Given the description of an element on the screen output the (x, y) to click on. 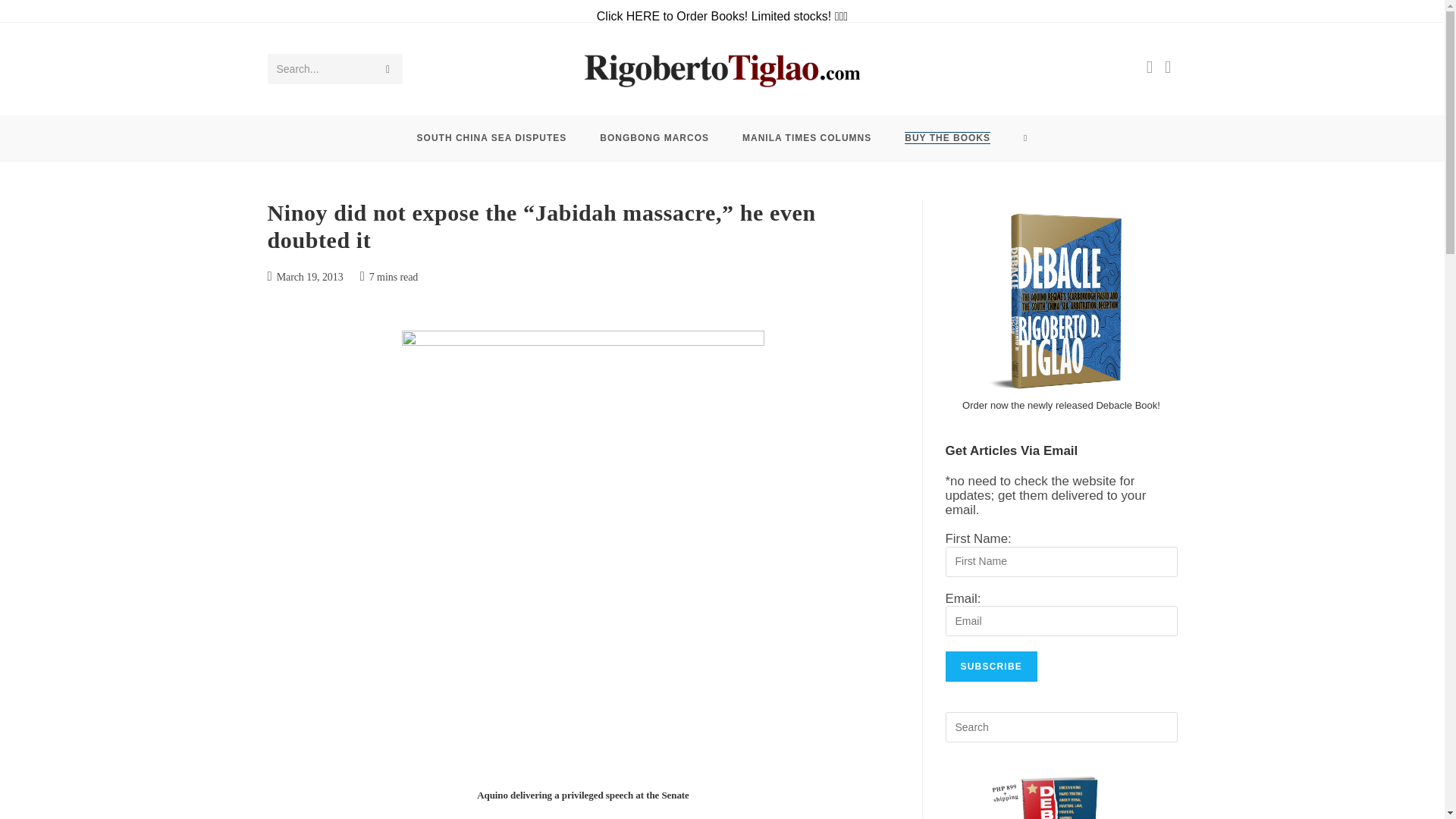
SOUTH CHINA SEA DISPUTES (491, 137)
Delivery fee included! (947, 137)
BONGBONG MARCOS (654, 137)
Order now the newly released Debacle Book! (1061, 405)
SUBSCRIBE (990, 666)
MANILA TIMES COLUMNS (806, 137)
BUY THE BOOKS (947, 137)
Submit search (386, 69)
